Given the description of an element on the screen output the (x, y) to click on. 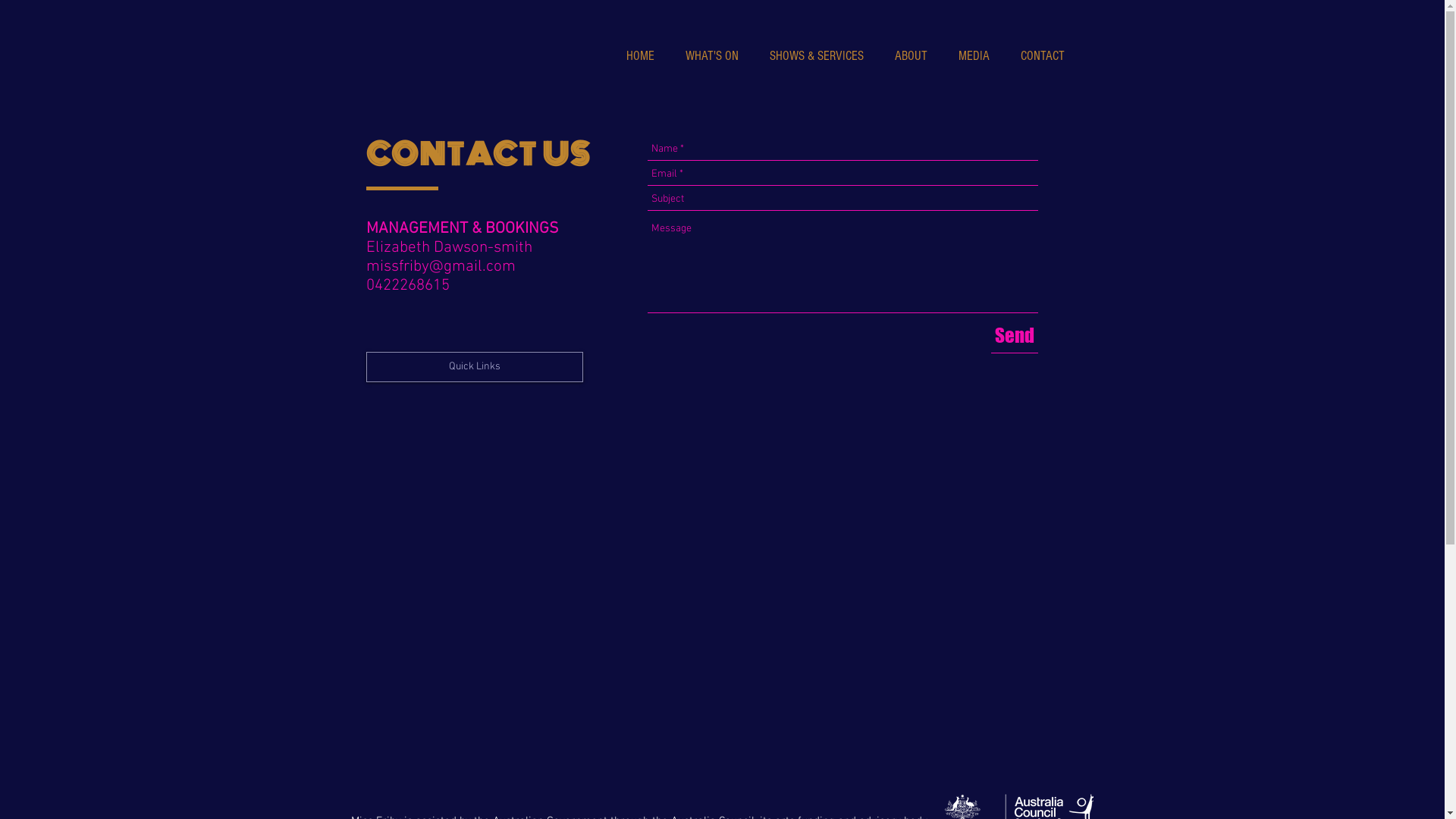
HOME Element type: text (643, 56)
SHOWS & SERVICES Element type: text (820, 56)
MEDIA Element type: text (977, 56)
Send Element type: text (1013, 335)
WHAT'S ON Element type: text (715, 56)
Quick Links Element type: text (473, 366)
ABOUT Element type: text (914, 56)
CONTACT Element type: text (1045, 56)
missfriby@gmail.com Element type: text (439, 266)
